Given the description of an element on the screen output the (x, y) to click on. 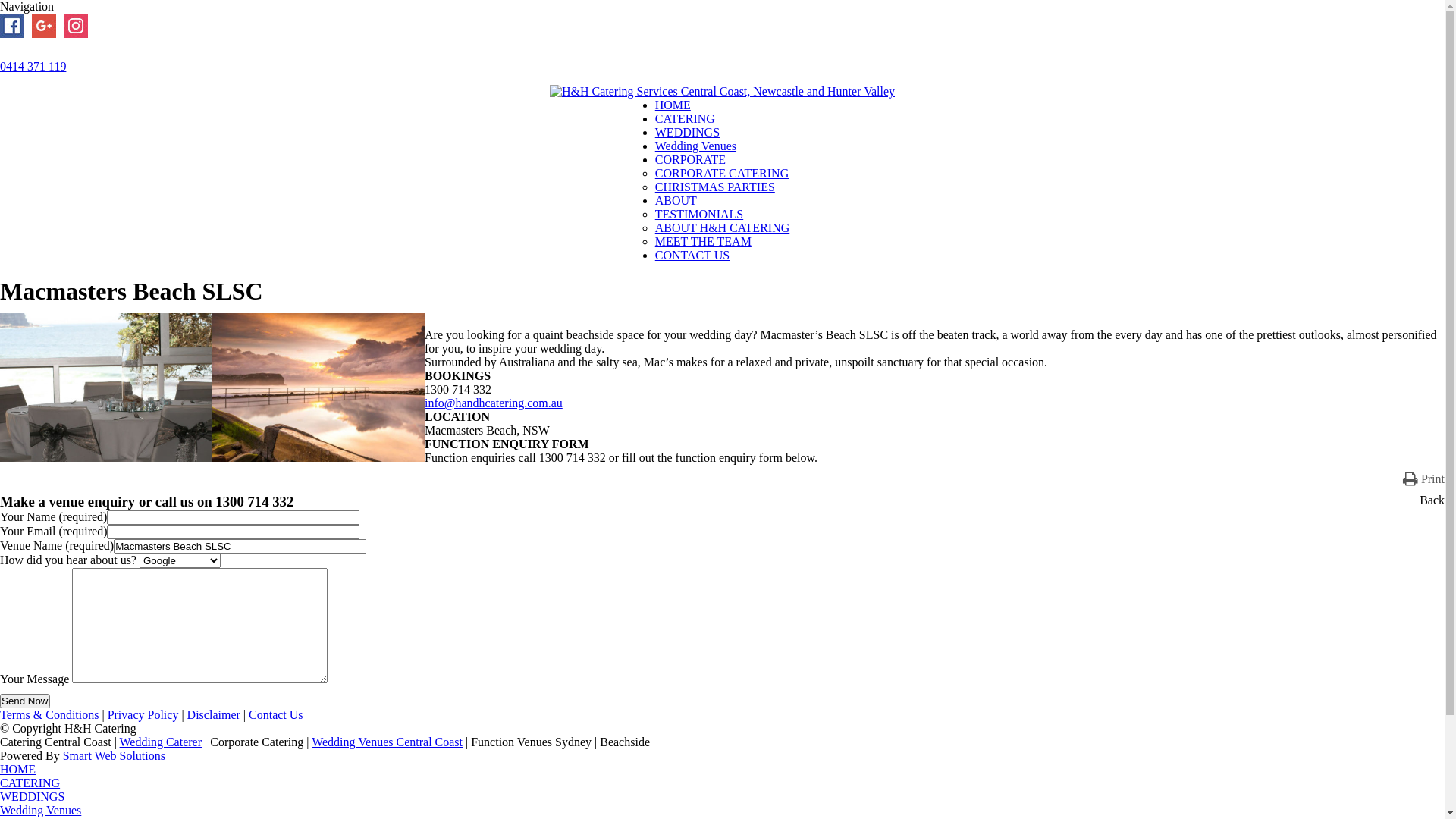
Instagram Element type: hover (75, 25)
CATERING Element type: text (685, 118)
Wedding Venues Element type: text (40, 809)
Send Now Element type: text (25, 700)
Disclaimer Element type: text (213, 714)
CORPORATE Element type: text (690, 159)
0414 371 119 Element type: text (32, 65)
CORPORATE CATERING Element type: text (721, 172)
info@handhcatering.com.au Element type: text (493, 402)
Google+ Element type: hover (43, 25)
Back Element type: text (1431, 500)
Terms & Conditions Element type: text (49, 714)
ABOUT H&H CATERING Element type: text (722, 227)
WEDDINGS Element type: text (32, 796)
HOME Element type: text (17, 768)
Wedding Venues Element type: text (695, 145)
CONTACT US Element type: text (692, 254)
CATERING Element type: text (29, 782)
Facebook Element type: hover (12, 25)
WEDDINGS Element type: text (687, 131)
Wedding Caterer Element type: text (160, 741)
CHRISTMAS PARTIES Element type: text (715, 186)
Privacy Policy Element type: text (142, 714)
HOME Element type: text (672, 104)
Wedding Venues Central Coast Element type: text (386, 741)
Smart Web Solutions Element type: text (113, 755)
TESTIMONIALS Element type: text (699, 213)
Contact Us Element type: text (275, 714)
ABOUT Element type: text (675, 200)
MEET THE TEAM Element type: text (703, 241)
